Given the description of an element on the screen output the (x, y) to click on. 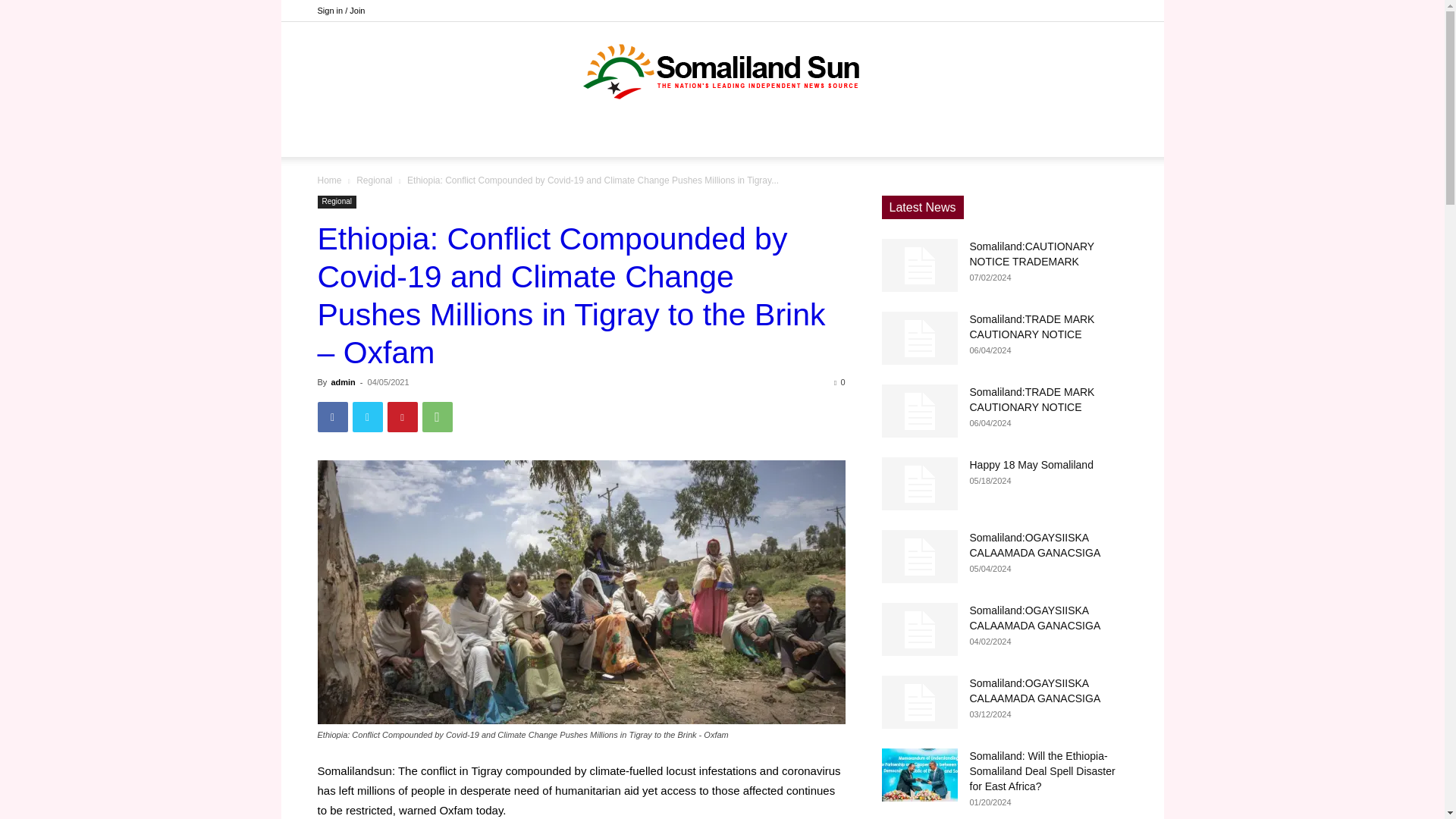
NEWS (617, 138)
HOME (450, 138)
DONOR NEWS (531, 138)
Somaliland Sun (722, 71)
